Given the description of an element on the screen output the (x, y) to click on. 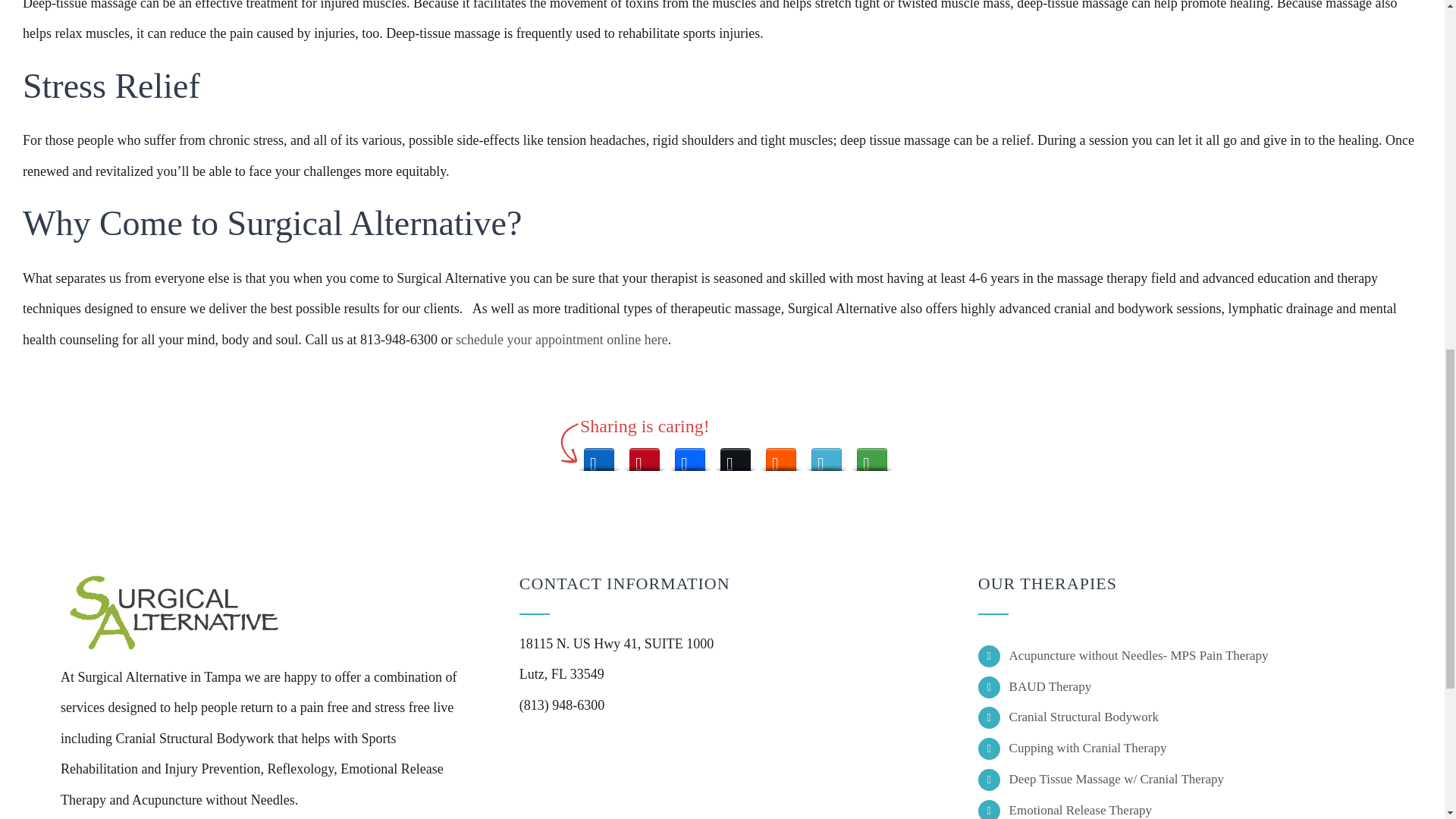
More Options (871, 455)
Facebook (689, 455)
LinkedIn (598, 455)
surgical-alternative-dark (174, 613)
Yammer (825, 455)
Reddit (780, 455)
Pinterest (643, 455)
